Given the description of an element on the screen output the (x, y) to click on. 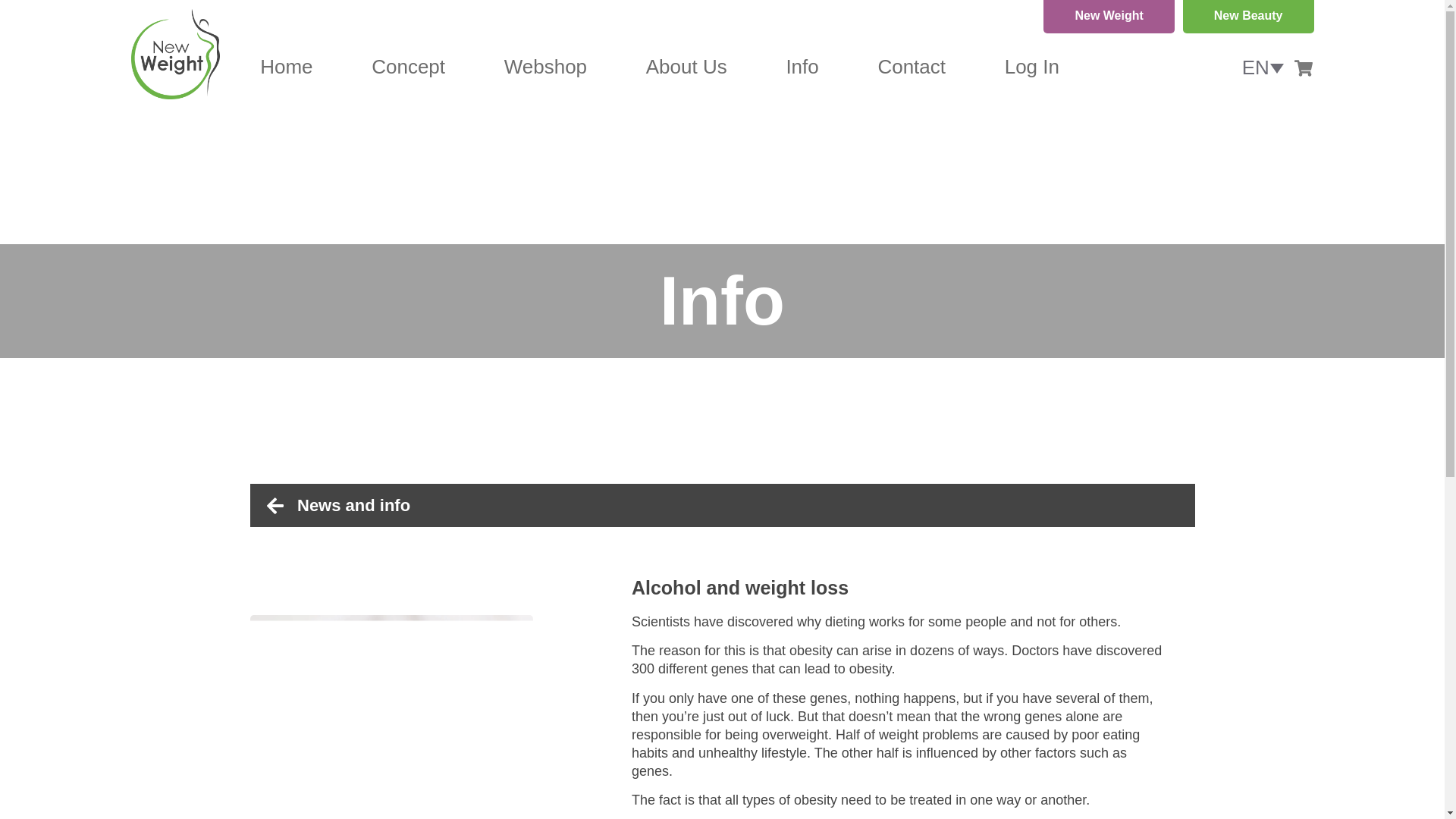
EN (1262, 66)
Info (802, 66)
Webshop (544, 66)
New Weight (1108, 16)
Log In (1031, 66)
News and info (730, 505)
Contact (910, 66)
New Beauty (1248, 16)
Concept (408, 66)
Home (286, 66)
